Given the description of an element on the screen output the (x, y) to click on. 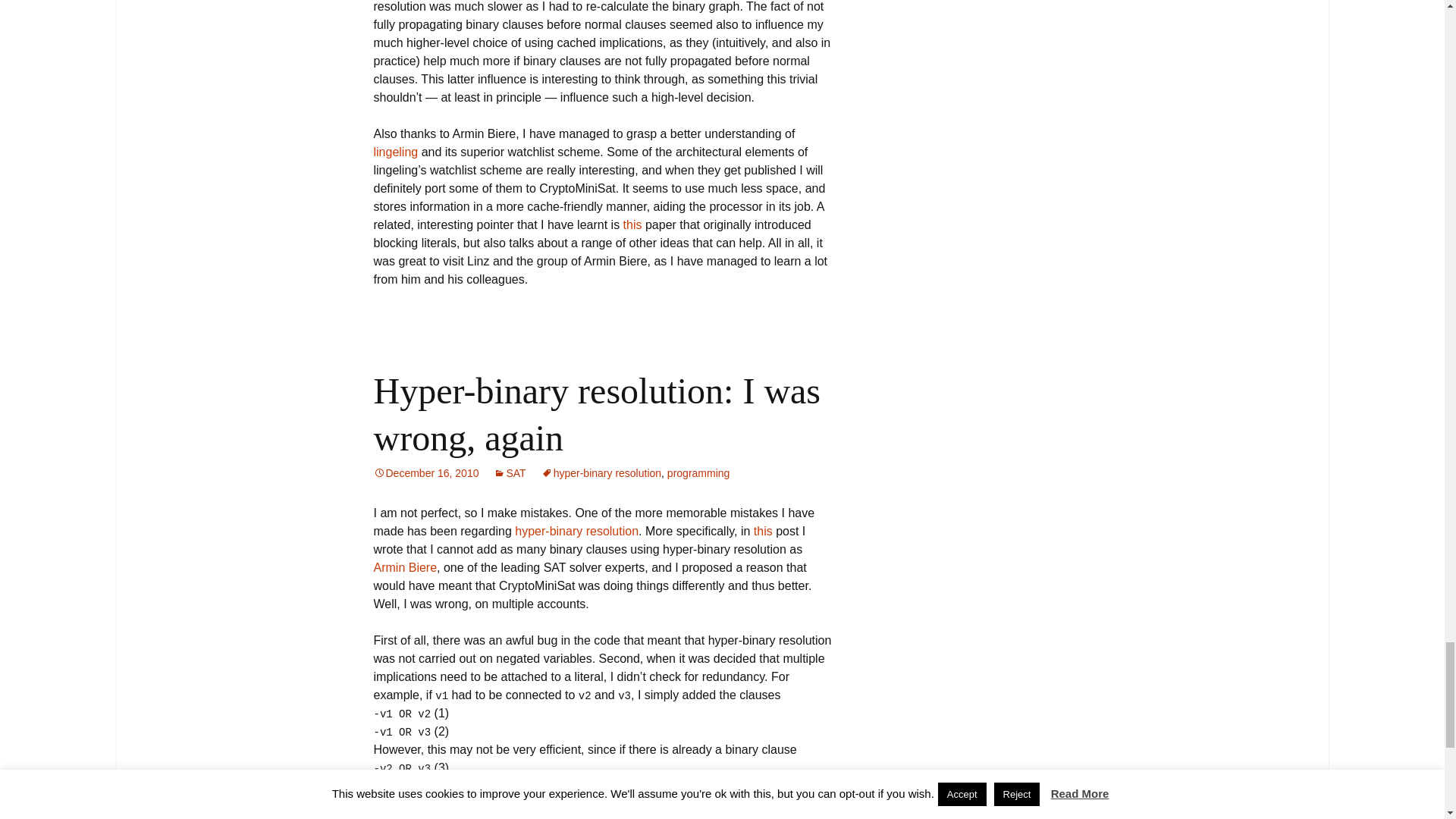
Permalink to Hyper-binary resolution: I was wrong, again (425, 472)
